Given the description of an element on the screen output the (x, y) to click on. 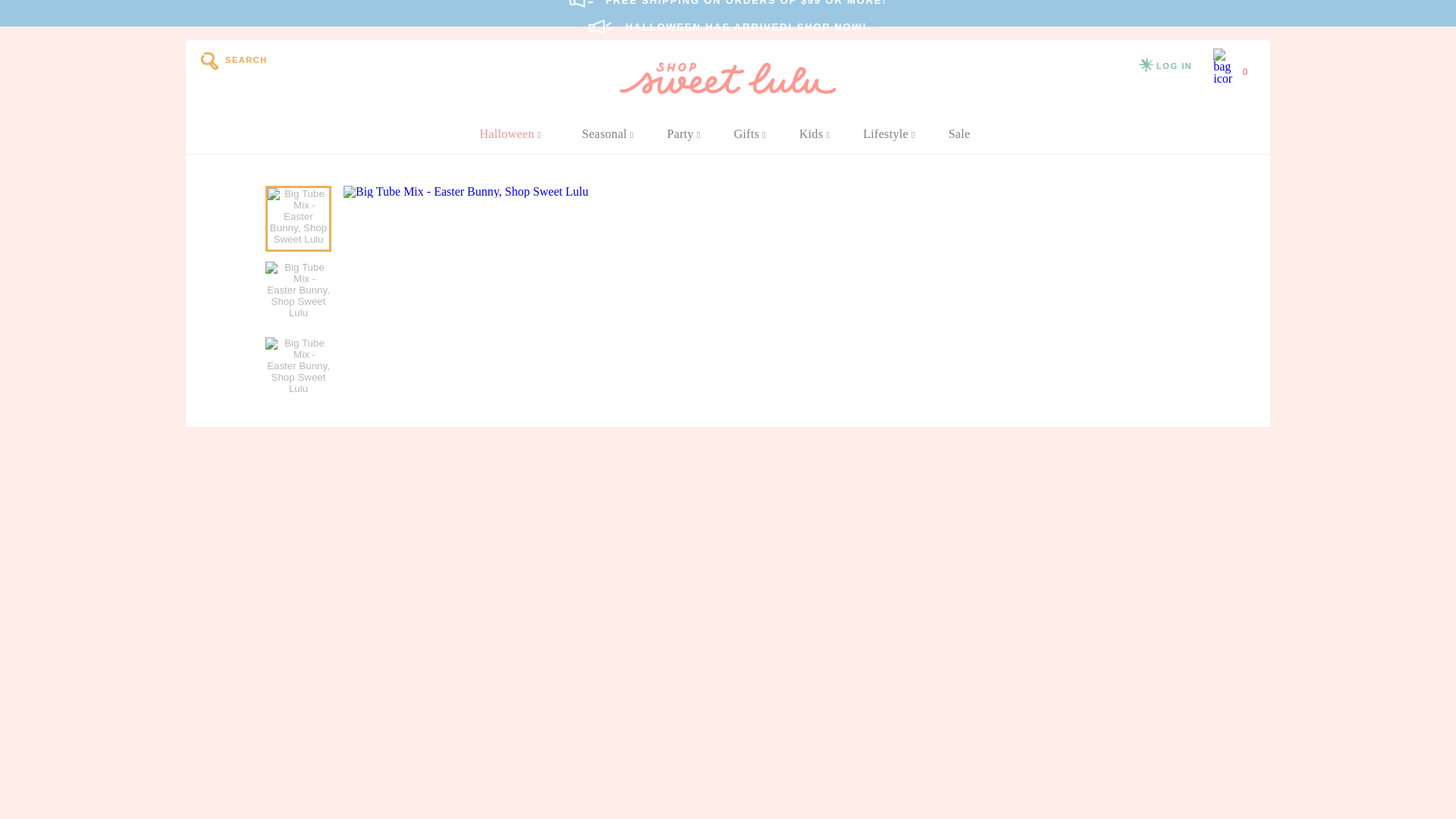
Halloween (510, 133)
Seasonal (607, 133)
Party (683, 133)
SEARCH (233, 60)
0 (1230, 67)
LOG IN (1165, 67)
